Given the description of an element on the screen output the (x, y) to click on. 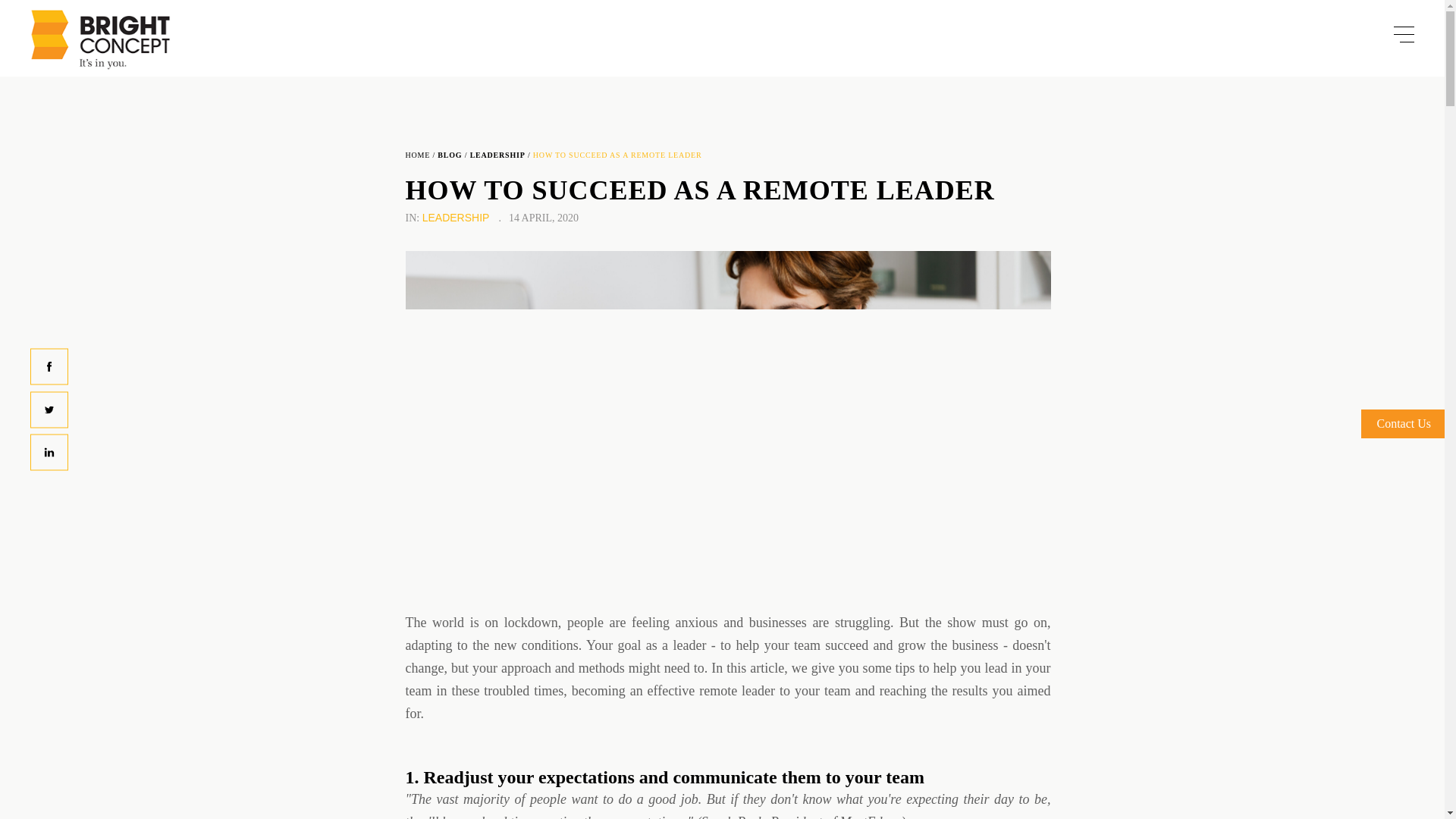
LEADERSHIP (497, 154)
HOME (416, 154)
BLOG (449, 154)
Bright Concept (100, 39)
LEADERSHIP (455, 217)
